Given the description of an element on the screen output the (x, y) to click on. 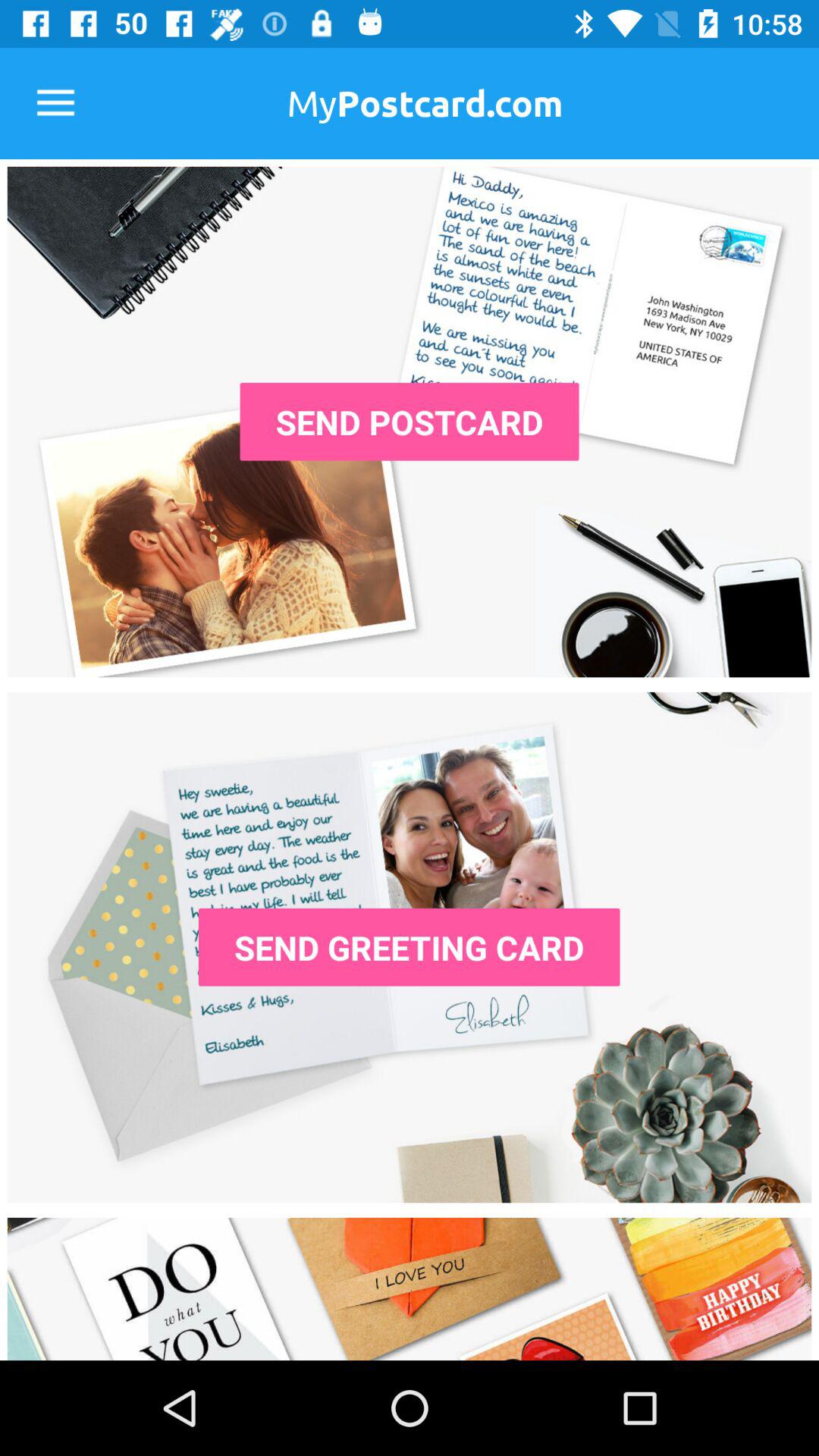
jump until the send greeting card icon (408, 947)
